Given the description of an element on the screen output the (x, y) to click on. 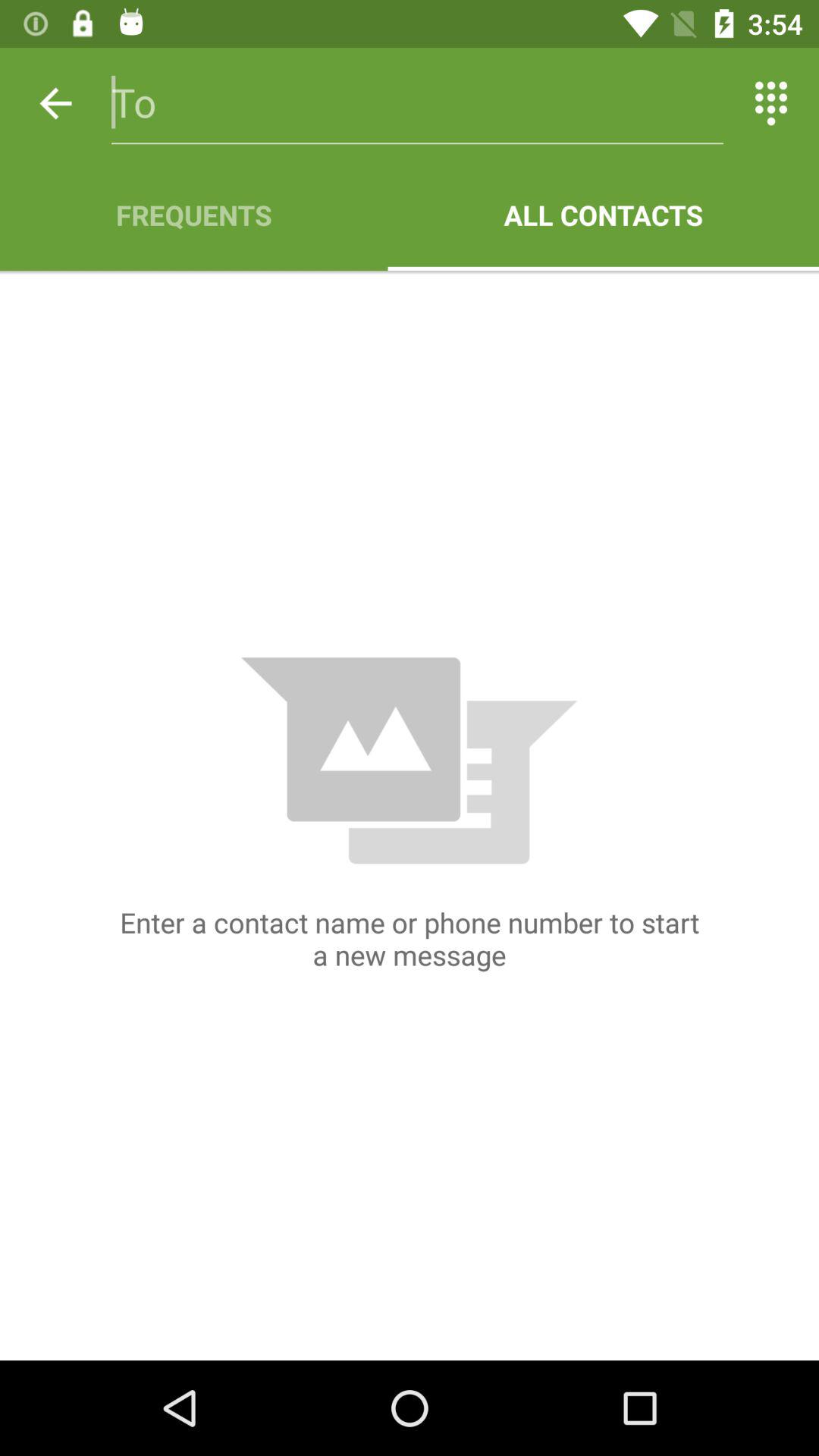
turn off frequents item (193, 214)
